Given the description of an element on the screen output the (x, y) to click on. 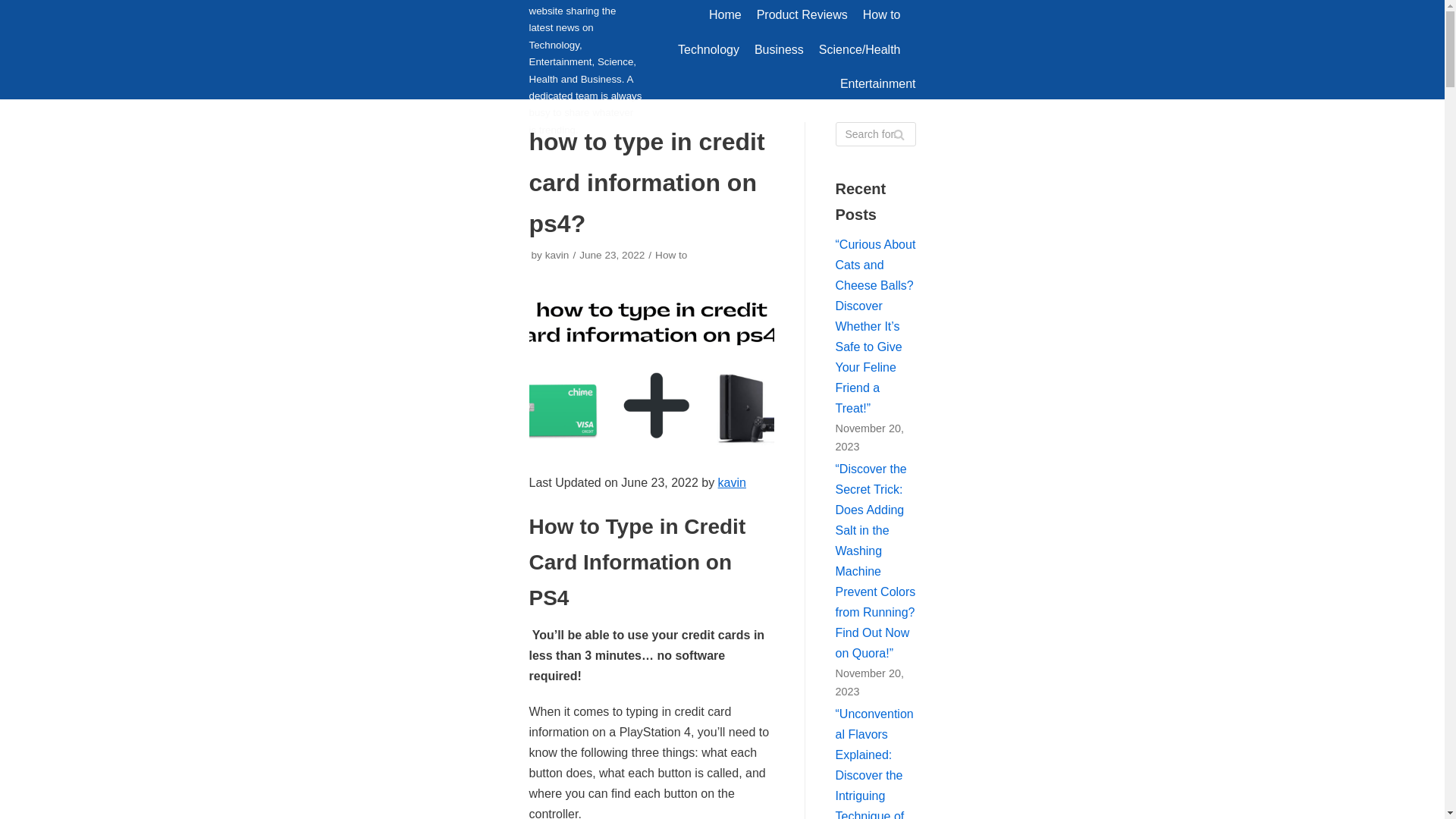
How to (671, 255)
kavin (731, 481)
How to (882, 14)
Skip to content (15, 7)
Product Reviews (802, 14)
Technology (708, 49)
Home (725, 14)
kavin (556, 255)
Entertainment (877, 84)
Business (778, 49)
Posts by kavin (556, 255)
